Given the description of an element on the screen output the (x, y) to click on. 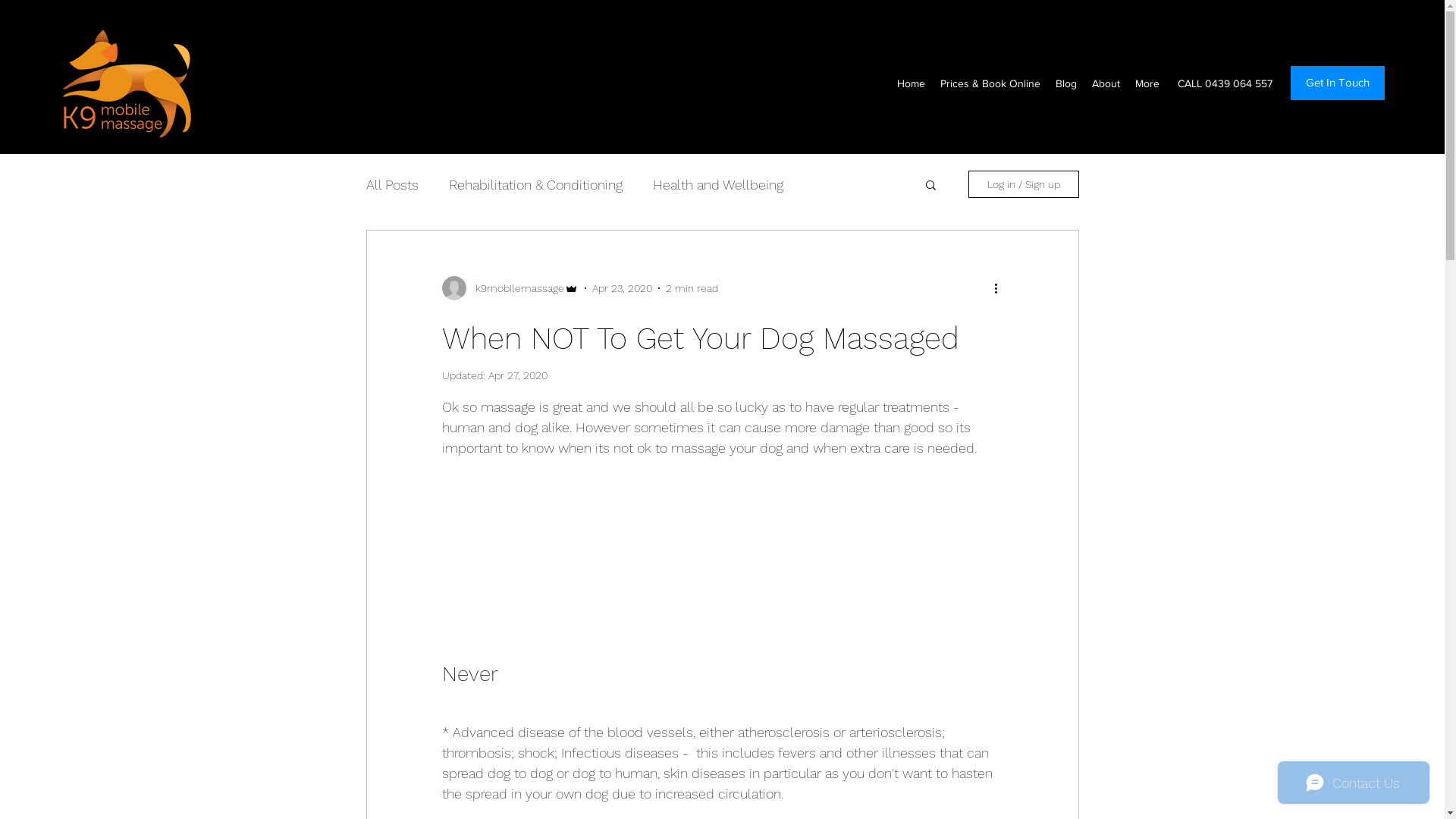
Health and Wellbeing Element type: text (717, 183)
About Element type: text (1105, 83)
Blog Element type: text (1066, 83)
Log in / Sign up Element type: text (1022, 183)
Home Element type: text (910, 83)
Get In Touch Element type: text (1337, 82)
Rehabilitation & Conditioning Element type: text (535, 183)
Prices & Book Online Element type: text (990, 83)
All Posts Element type: text (391, 183)
